Given the description of an element on the screen output the (x, y) to click on. 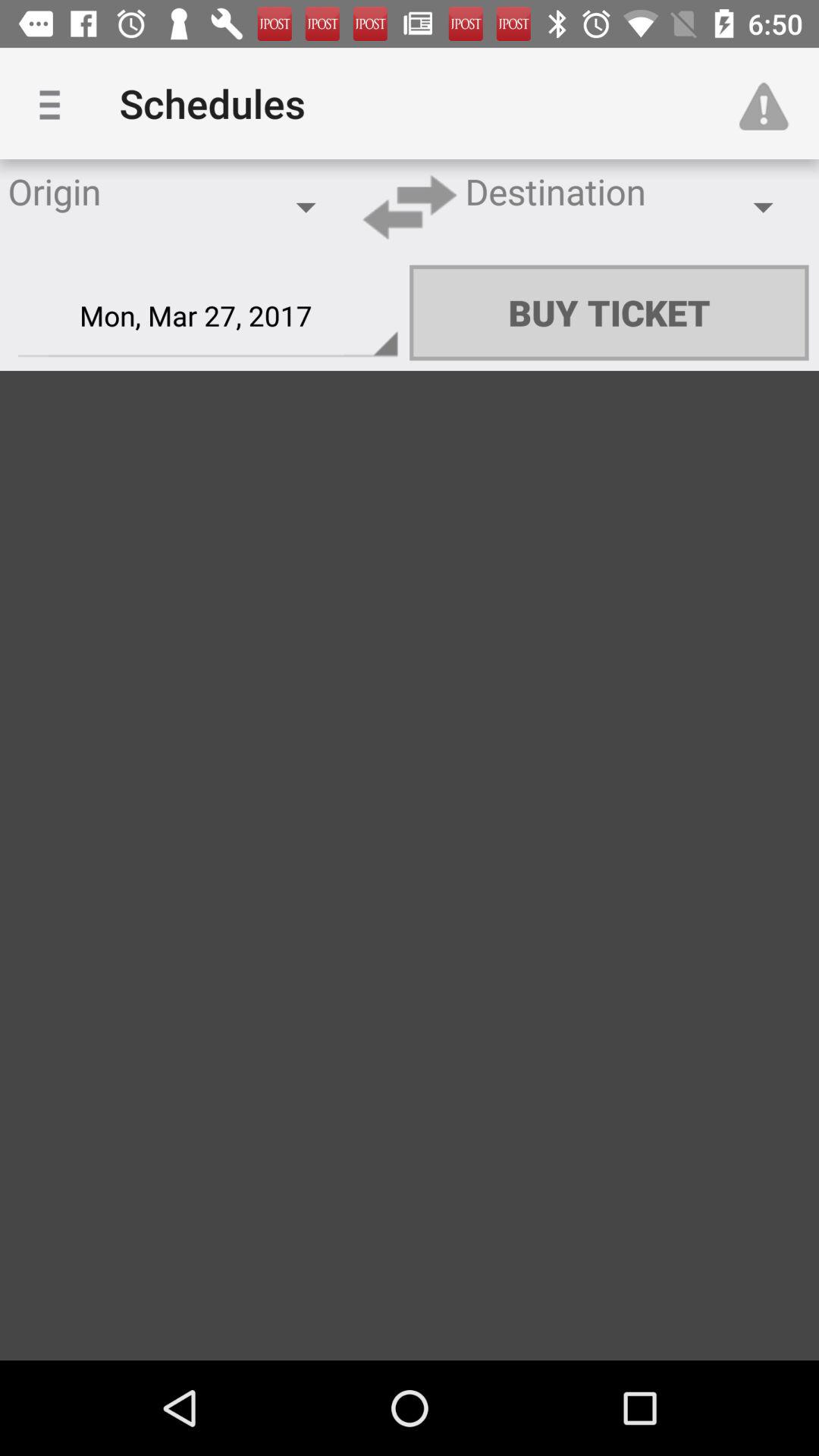
select item above the buy ticket icon (771, 103)
